Given the description of an element on the screen output the (x, y) to click on. 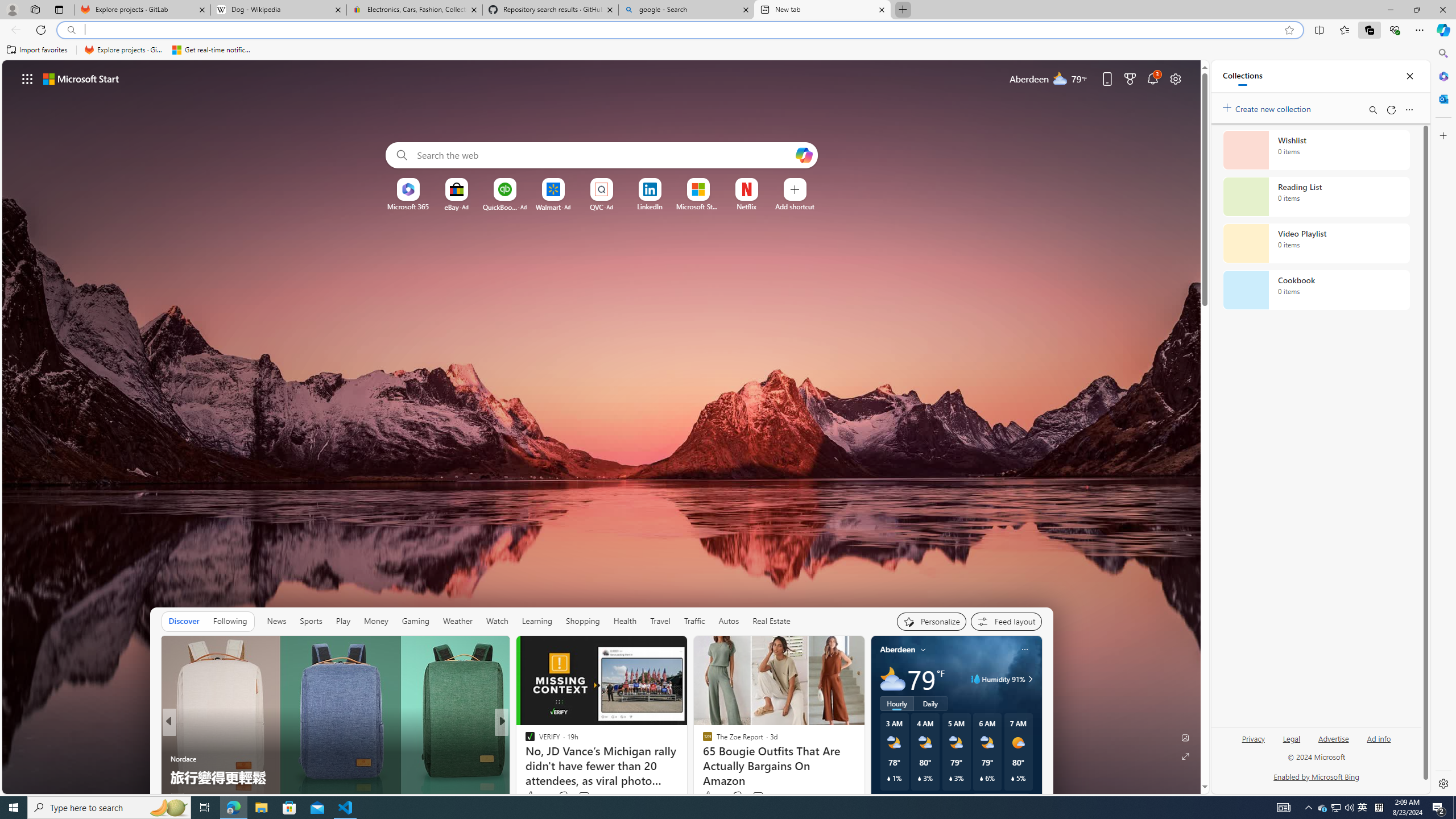
Traffic (694, 621)
Add a site (793, 206)
Learning (536, 621)
Traffic (694, 621)
Travel (660, 621)
View comments 180 Comment (587, 796)
Cracked (524, 740)
Reading List collection, 0 items (1316, 196)
Money (375, 621)
